Given the description of an element on the screen output the (x, y) to click on. 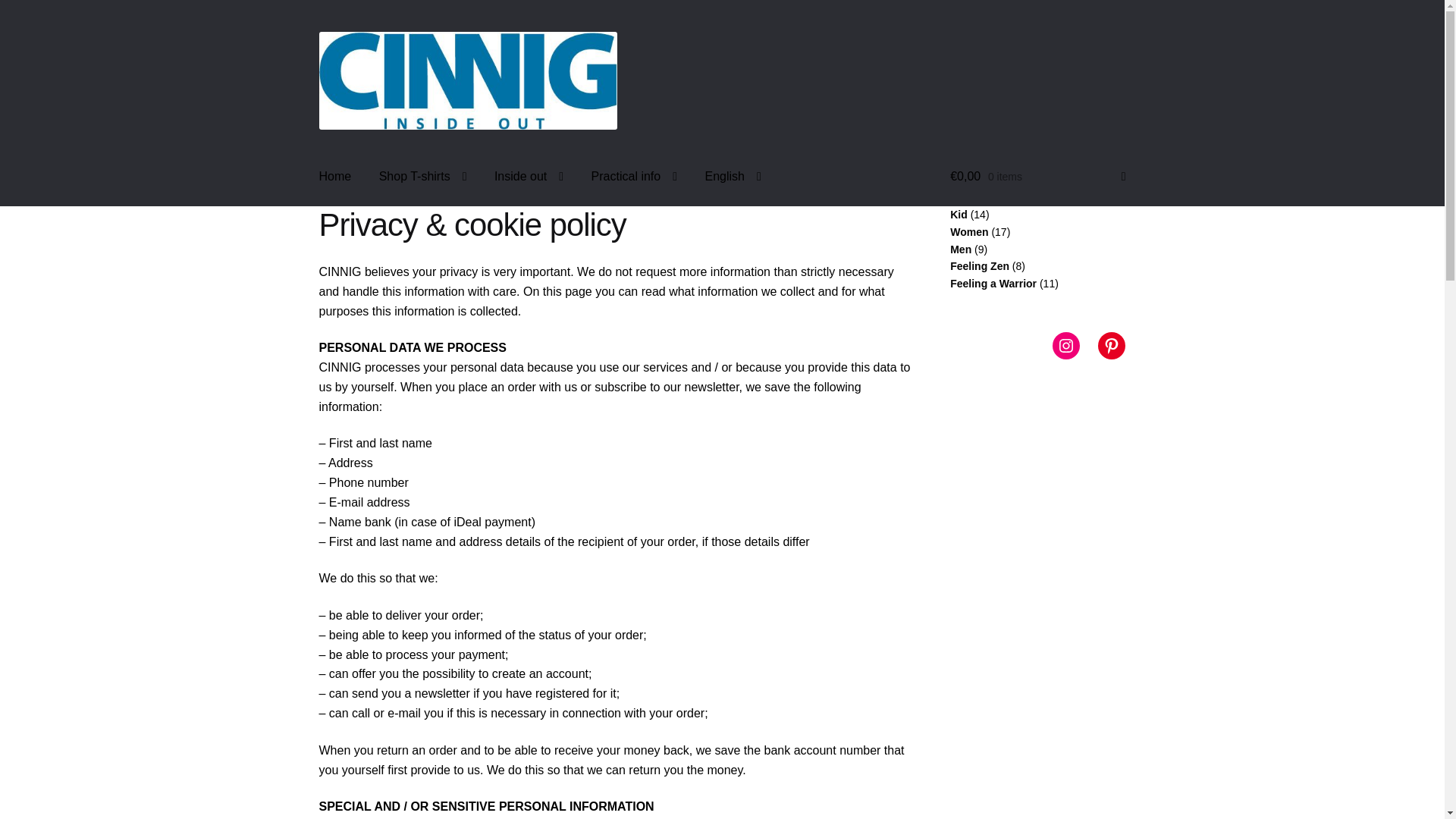
English (733, 176)
Home (335, 176)
Practical info (633, 176)
View your shopping basket (1037, 176)
Inside out (528, 176)
Shop T-shirts (422, 176)
